Given the description of an element on the screen output the (x, y) to click on. 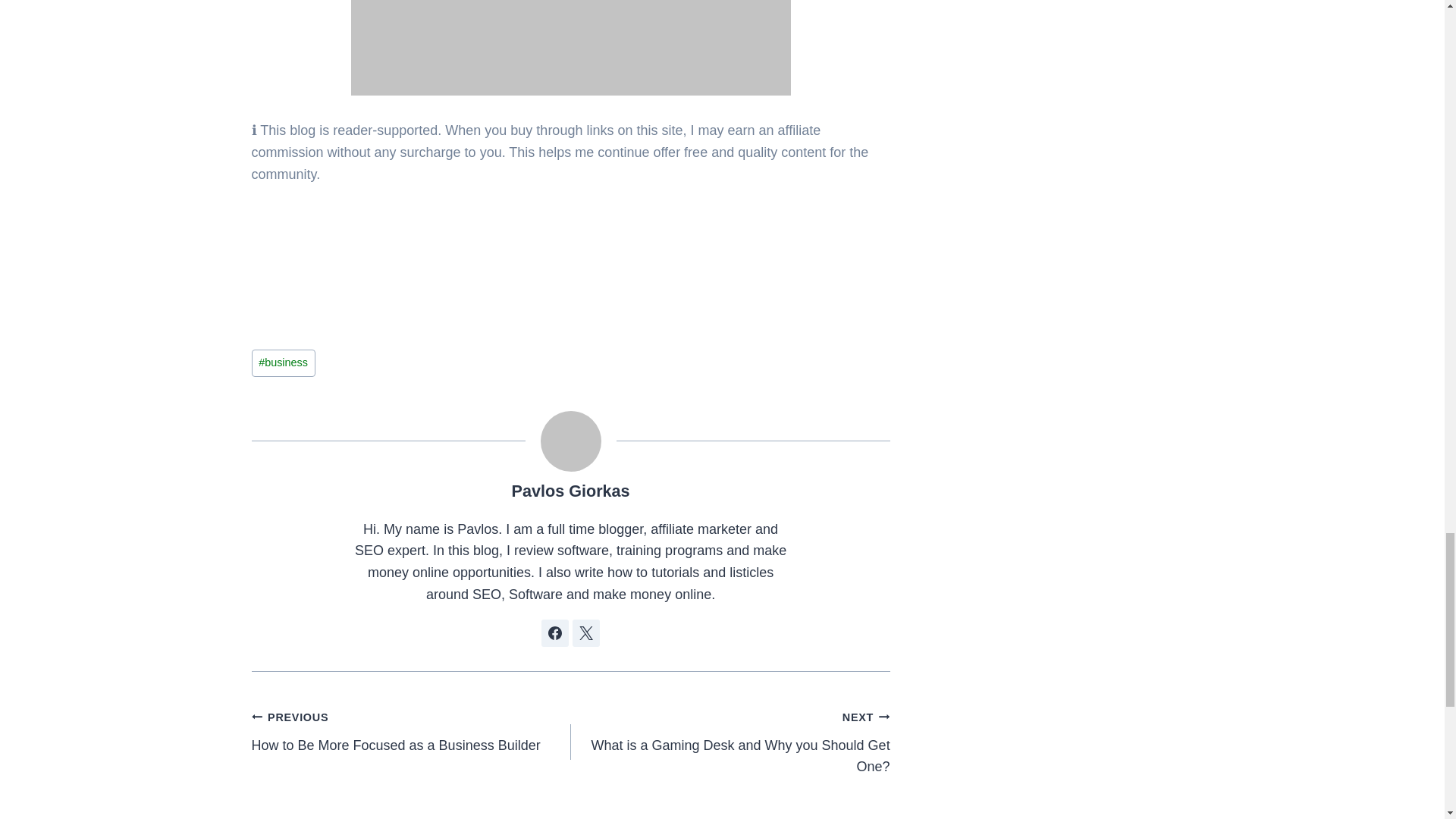
Follow Pavlos Giorkas on X formerly Twitter (585, 633)
business (283, 362)
Pavlos Giorkas (729, 741)
Posts by Pavlos Giorkas (571, 490)
Follow Pavlos Giorkas on Facebook (410, 730)
